Given the description of an element on the screen output the (x, y) to click on. 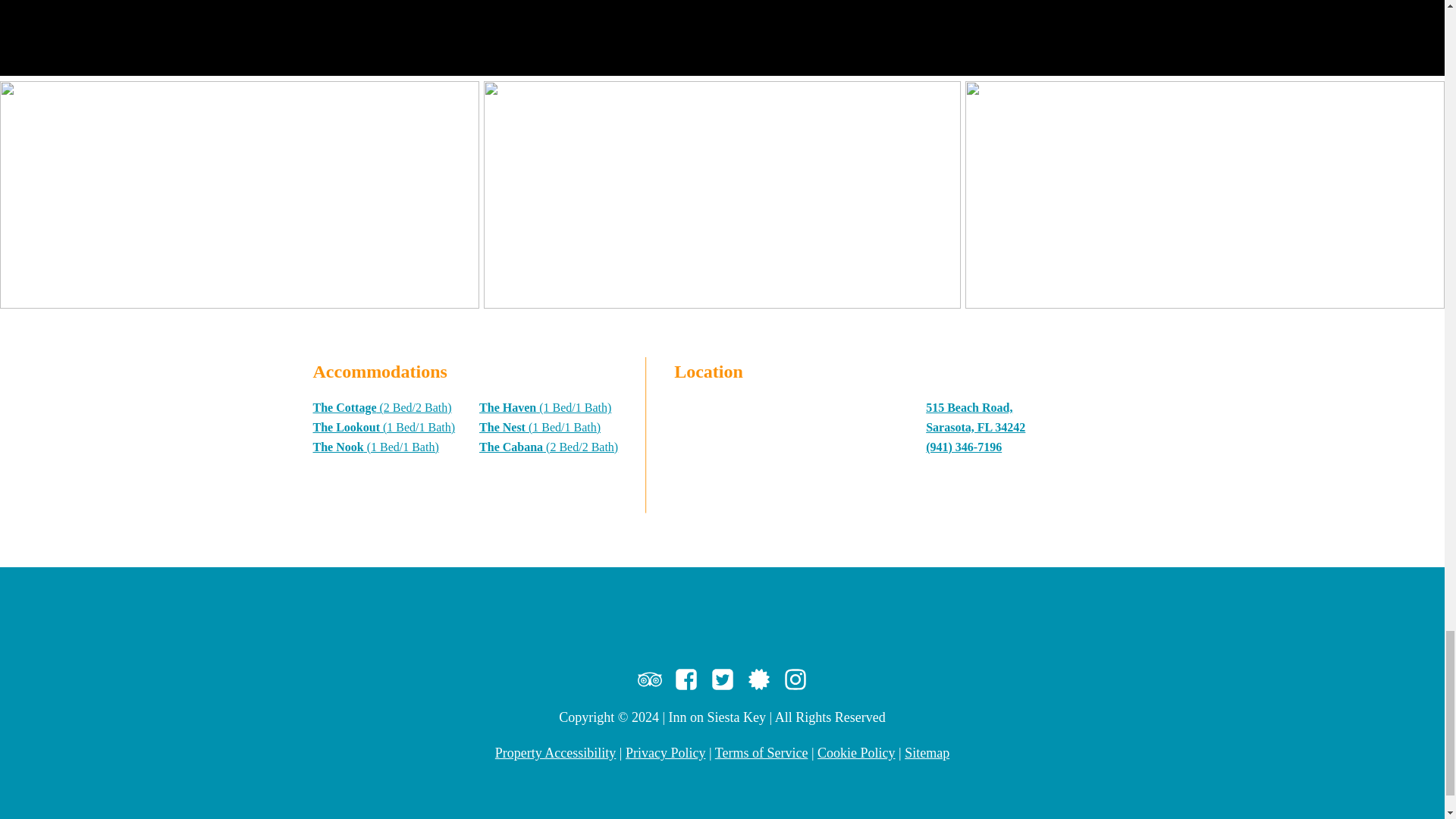
Directions to The Inn on Siesta Key (787, 454)
Link to Our Facebook Page (684, 677)
Link to Our Instagram Page (794, 677)
Visit the Siesta Key Chamber of Commerce (757, 677)
View Our Trip Advisor Page (649, 677)
Follow Us on Twitter (721, 677)
